Given the description of an element on the screen output the (x, y) to click on. 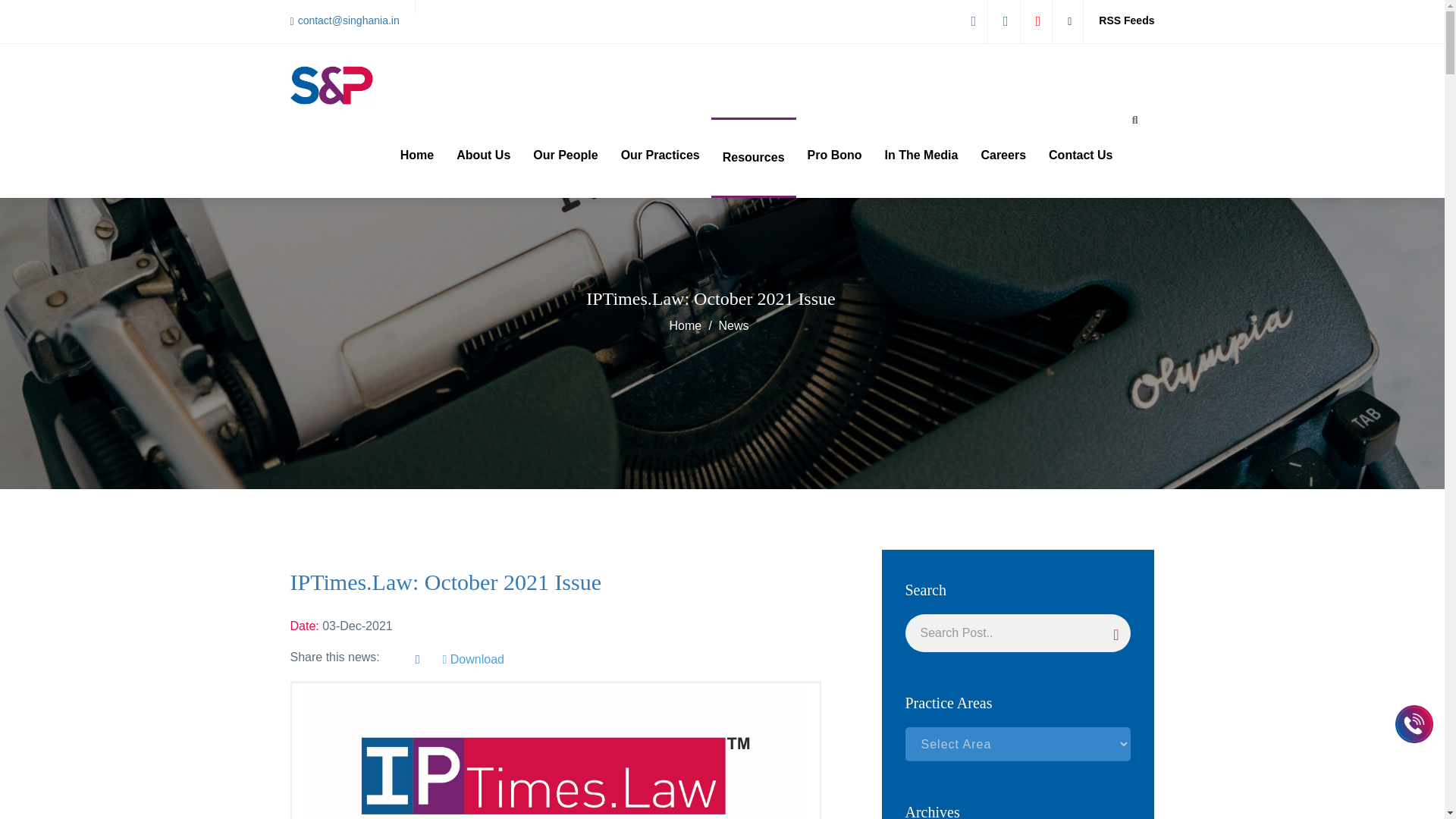
RSS Feeds (1126, 20)
Our Practices (660, 155)
Our People (564, 155)
Home (416, 155)
Share (417, 658)
About Us (483, 155)
